Given the description of an element on the screen output the (x, y) to click on. 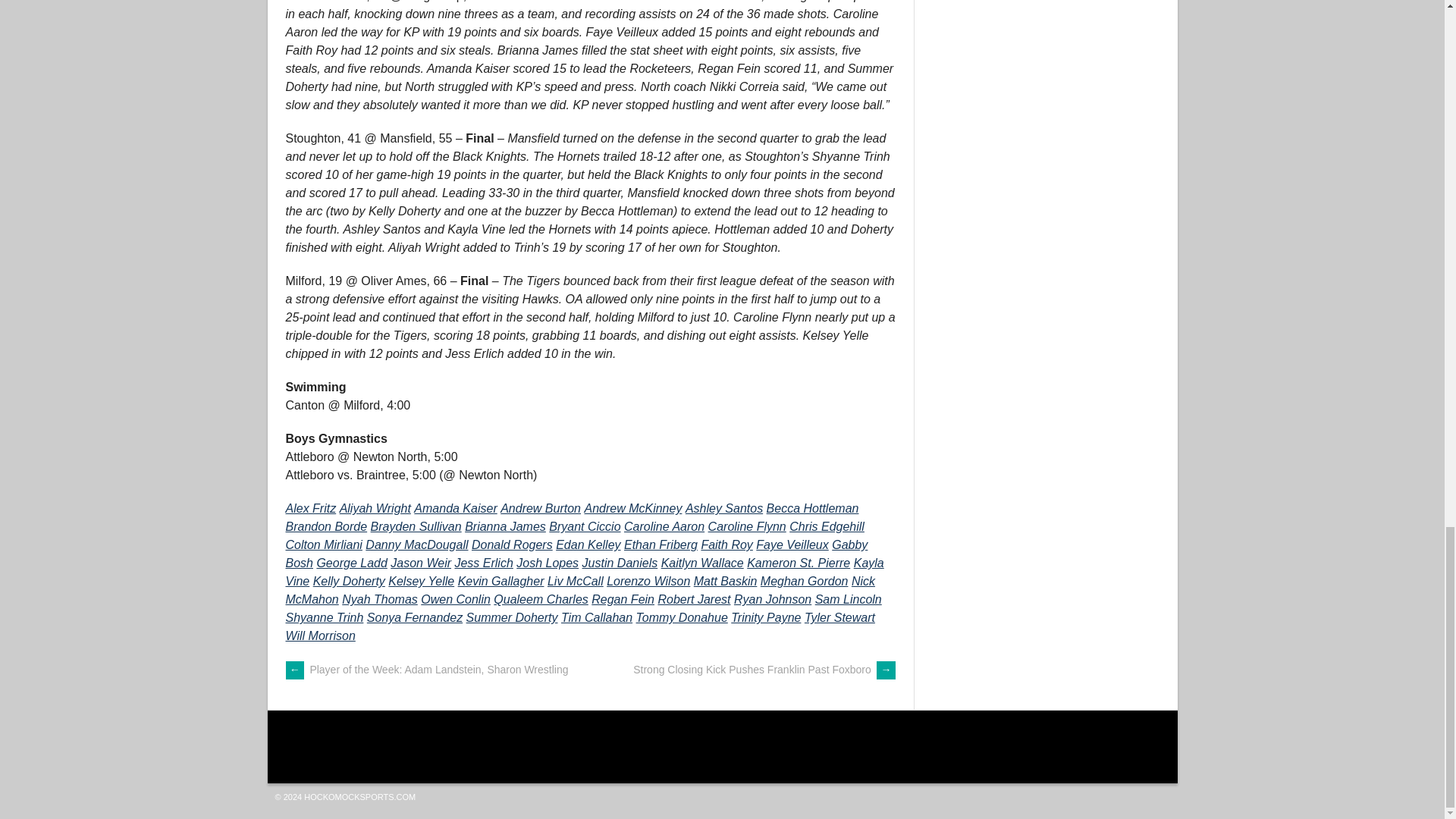
Alex Fritz (310, 508)
Ashley Santos (723, 508)
Brandon Borde (325, 526)
Caroline Aaron (664, 526)
Colton Mirliani (323, 544)
Chris Edgehill (826, 526)
Donald Rogers (512, 544)
Amanda Kaiser (454, 508)
Edan Kelley (588, 544)
Danny MacDougall (416, 544)
